Given the description of an element on the screen output the (x, y) to click on. 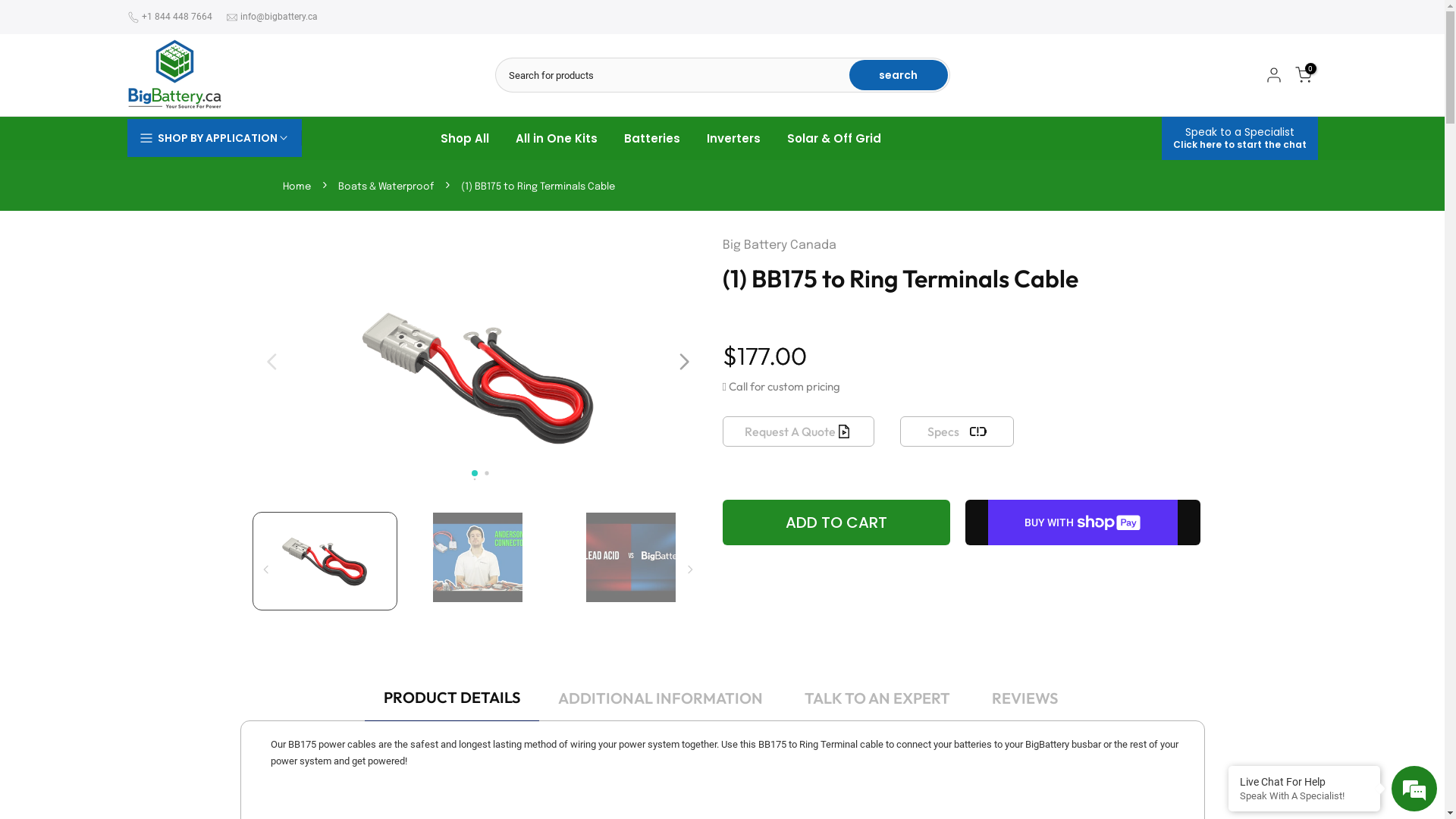
Call for custom pricing Element type: text (784, 386)
Inverters Element type: text (733, 137)
Batteries Element type: text (651, 137)
Shop All Element type: text (464, 137)
info@bigbattery.ca Element type: text (277, 16)
Boats & Waterproof Element type: text (385, 186)
ADD TO CART Element type: text (835, 522)
+1 844 448 7664 Element type: text (176, 16)
Specs Element type: text (956, 431)
search Element type: text (898, 74)
Solar & Off Grid Element type: text (833, 137)
More payment options Element type: text (1081, 572)
Big Battery Canada Element type: text (778, 244)
All in One Kits Element type: text (556, 137)
Speak to a Specialist
Click here to start the chat Element type: text (1239, 138)
0 Element type: text (1303, 74)
Request A Quote Element type: text (797, 431)
Home Element type: text (296, 186)
(1) BB175 to Ring Terminals Cable Element type: text (538, 186)
